Given the description of an element on the screen output the (x, y) to click on. 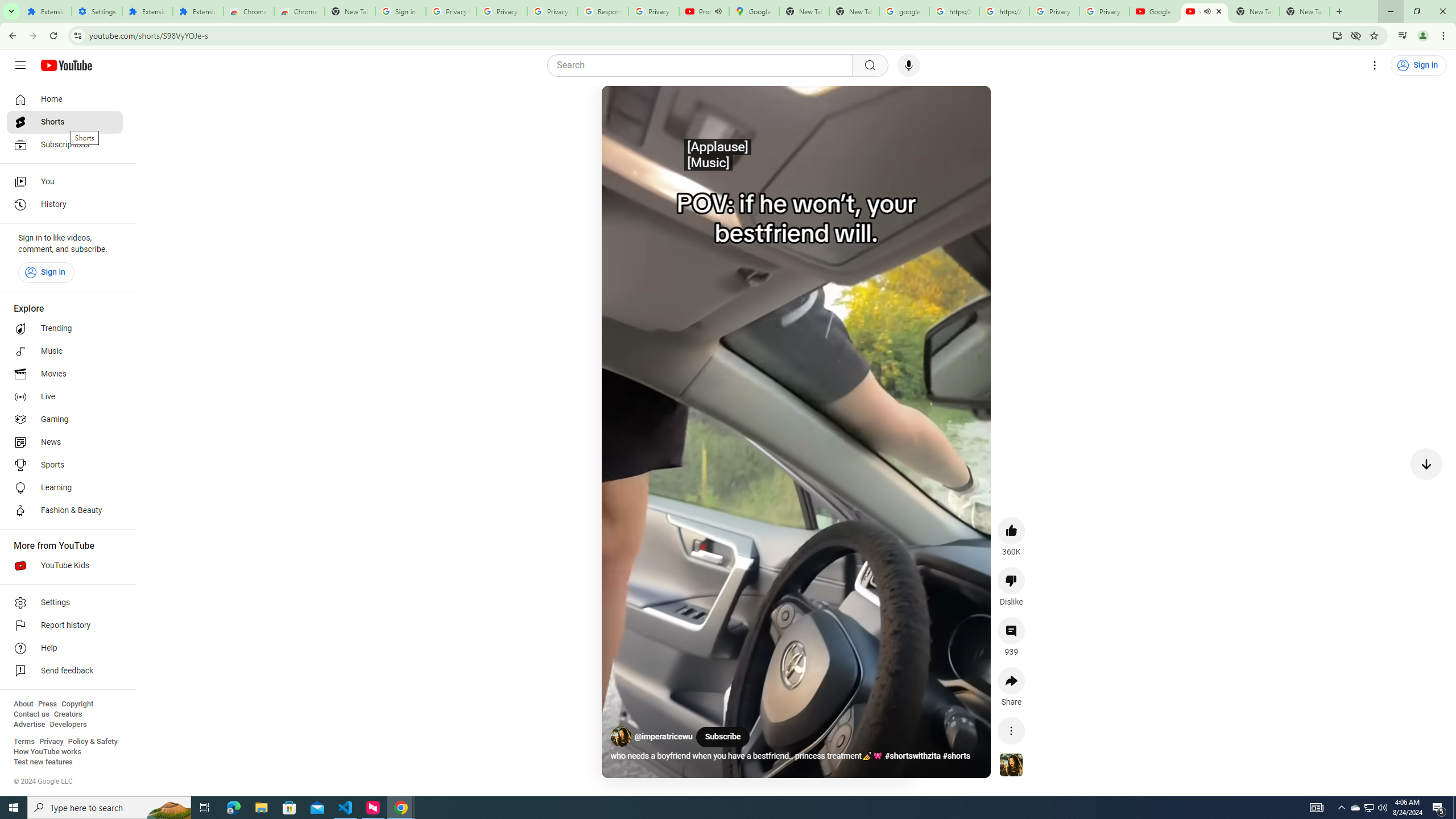
Guide (20, 65)
Report history (64, 625)
Next video (1426, 463)
Dislike this video (1011, 580)
Extensions (197, 11)
Send feedback (64, 671)
Mute (660, 108)
History (64, 204)
Fashion & Beauty (64, 510)
